Given the description of an element on the screen output the (x, y) to click on. 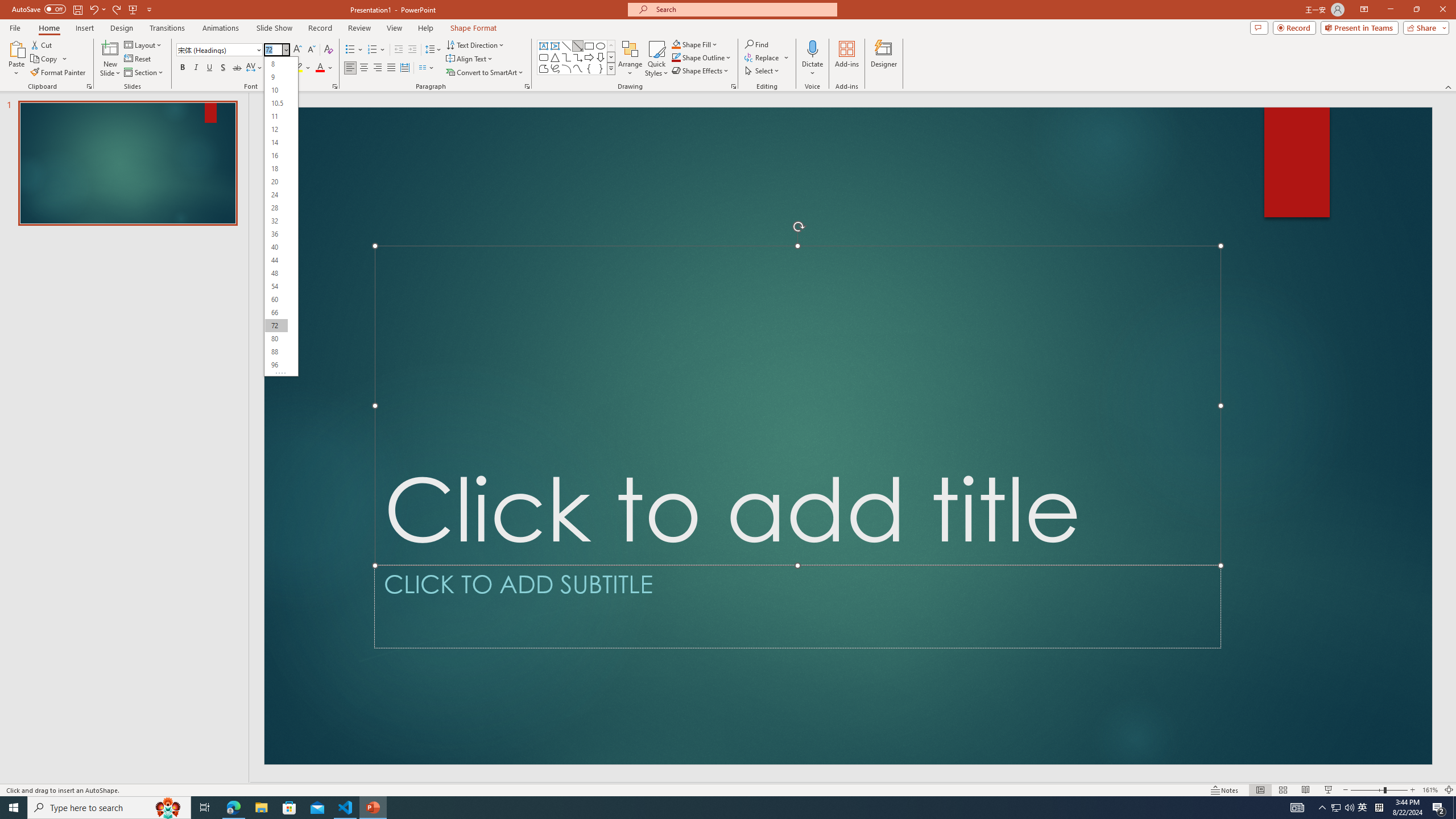
72 (276, 325)
88 (276, 351)
